Given the description of an element on the screen output the (x, y) to click on. 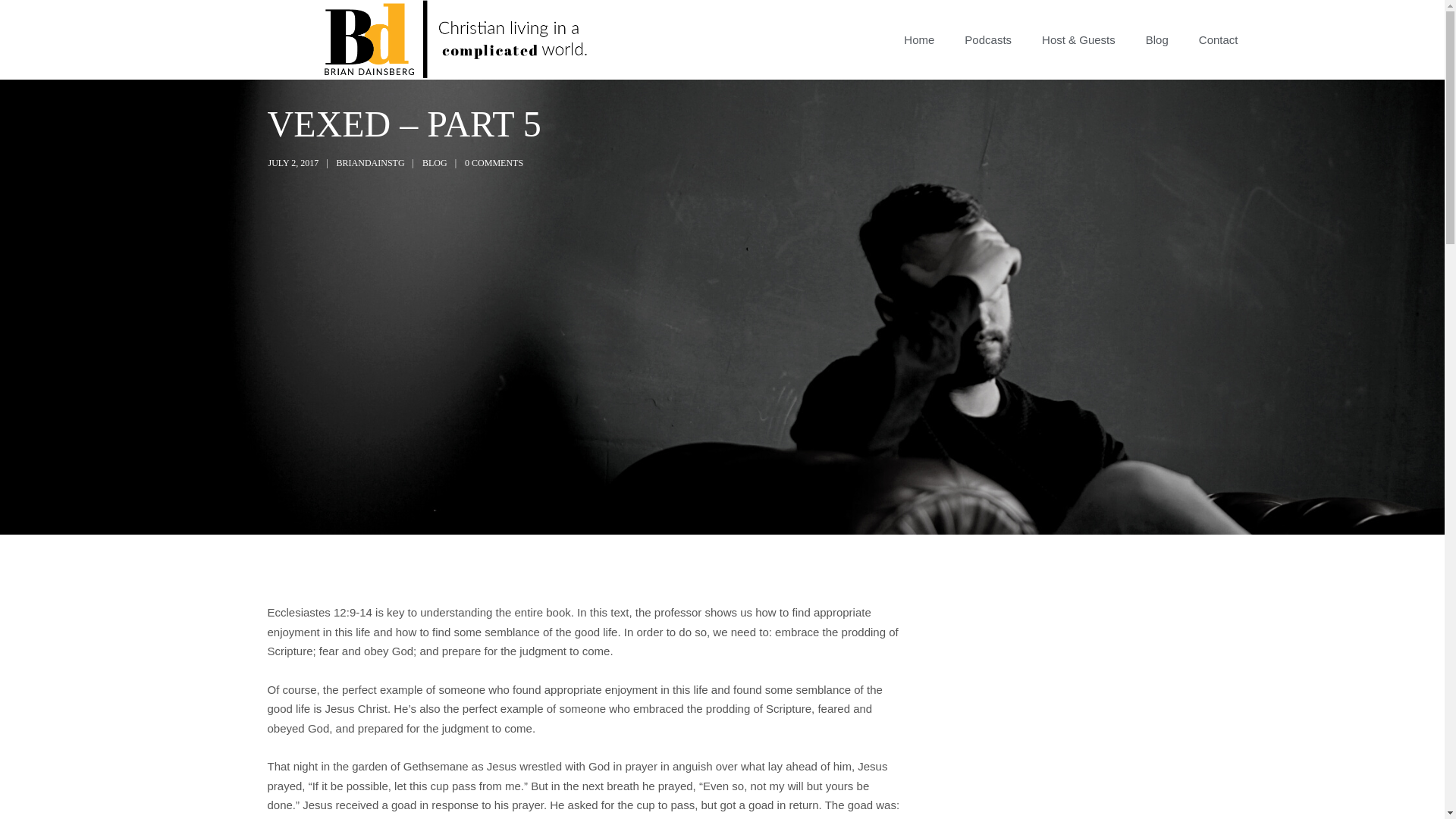
Podcasts (987, 39)
Contact (1218, 39)
BLOG (434, 163)
Submit (31, 22)
Blog (1157, 39)
Home (918, 39)
0 COMMENTS (493, 163)
BRIANDAINSTG (370, 163)
